Given the description of an element on the screen output the (x, y) to click on. 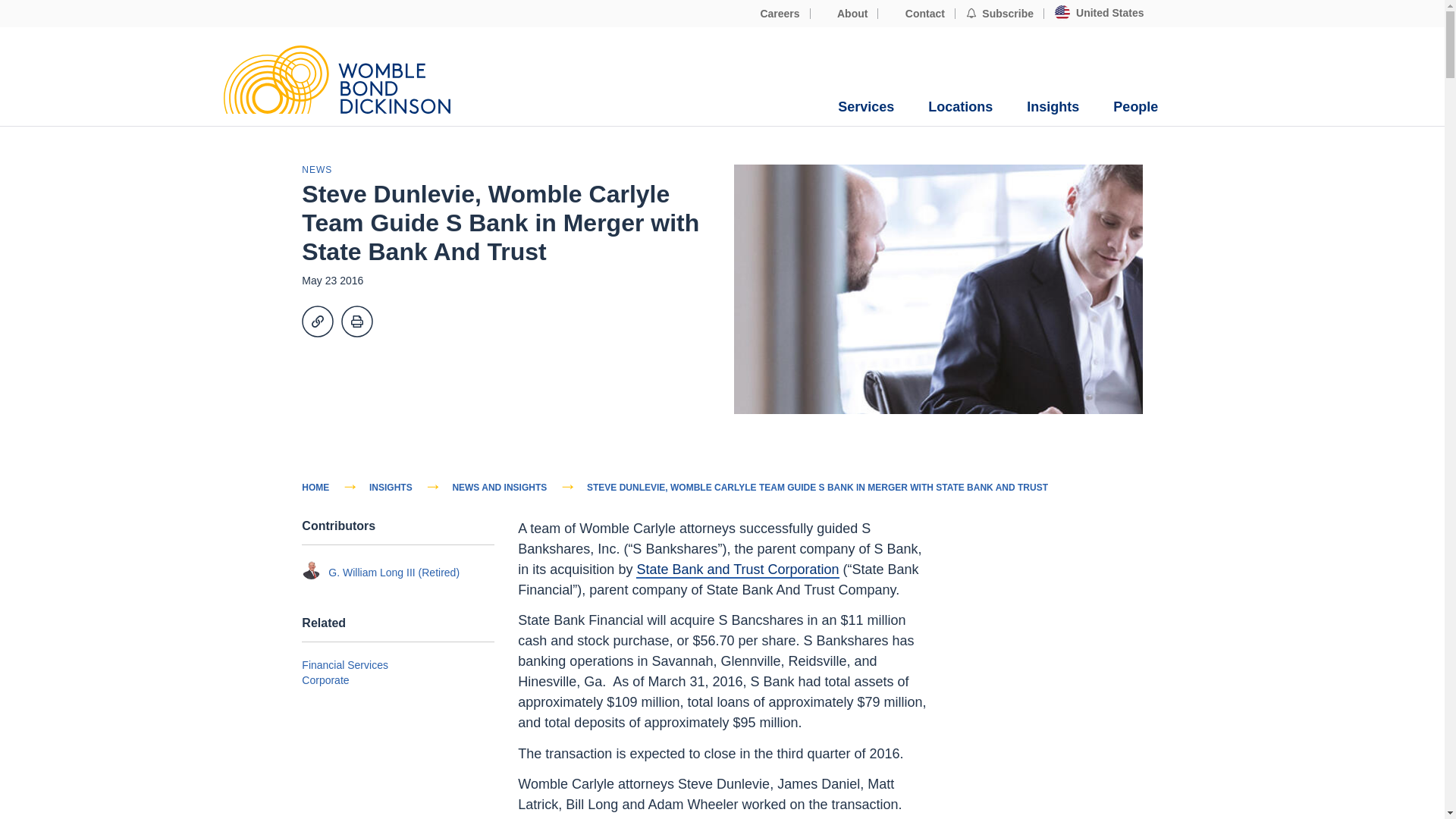
Locations (960, 107)
Careers (771, 13)
Services (865, 107)
Contact (916, 13)
United States (1098, 13)
About (844, 13)
